Given the description of an element on the screen output the (x, y) to click on. 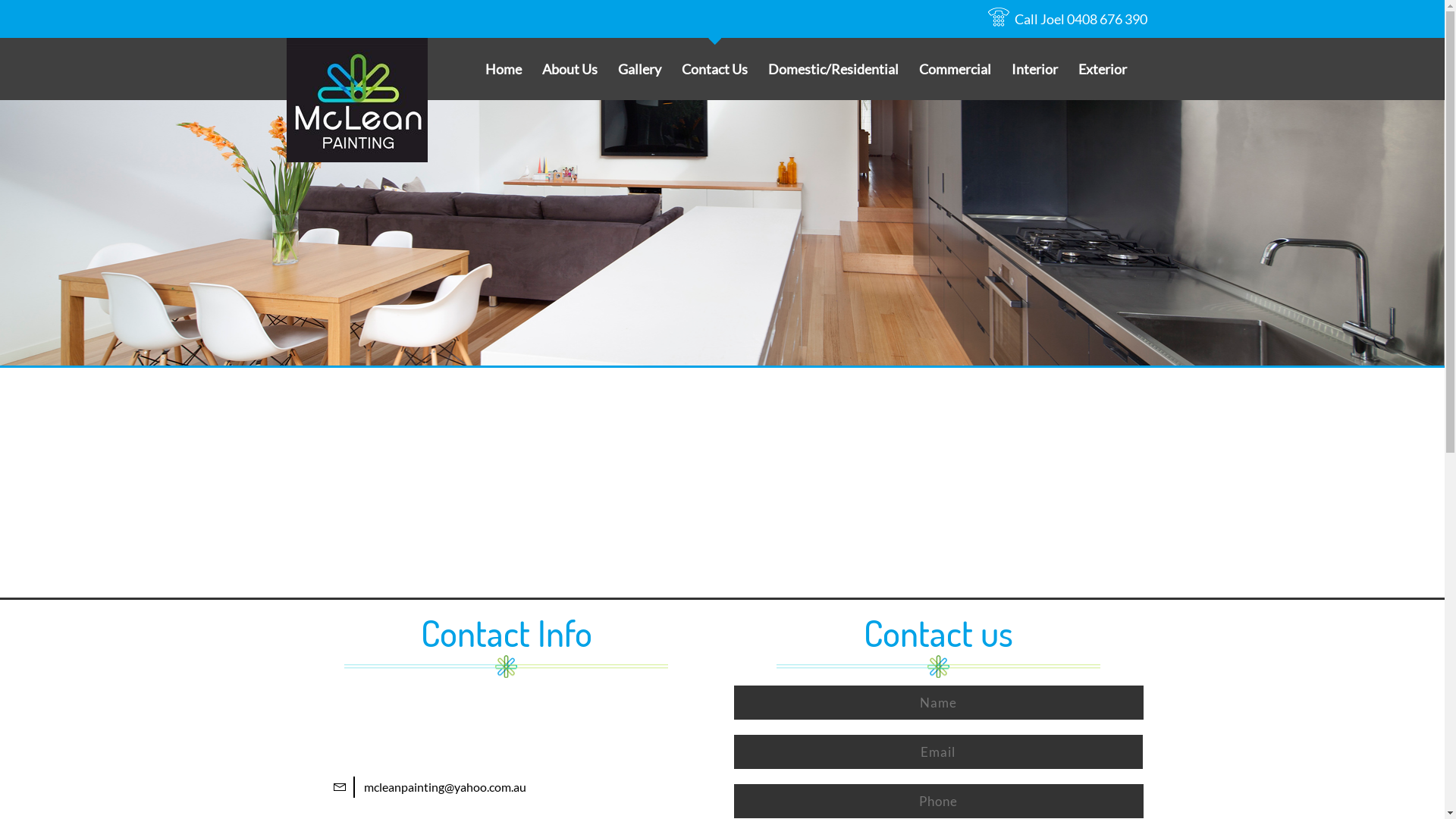
Home Element type: text (503, 68)
Contact Us Element type: text (713, 68)
mcleanpainting@yahoo.com.au Element type: text (445, 786)
Interior Element type: text (1034, 68)
Painters Melbourne Element type: hover (356, 98)
0408 676 390 Element type: text (1106, 18)
Exterior Element type: text (1102, 68)
About Us Element type: text (568, 68)
HOME Element type: text (301, 250)
Domestic/Residential Element type: text (832, 68)
Gallery Element type: text (638, 68)
Commercial Element type: text (955, 68)
